Given the description of an element on the screen output the (x, y) to click on. 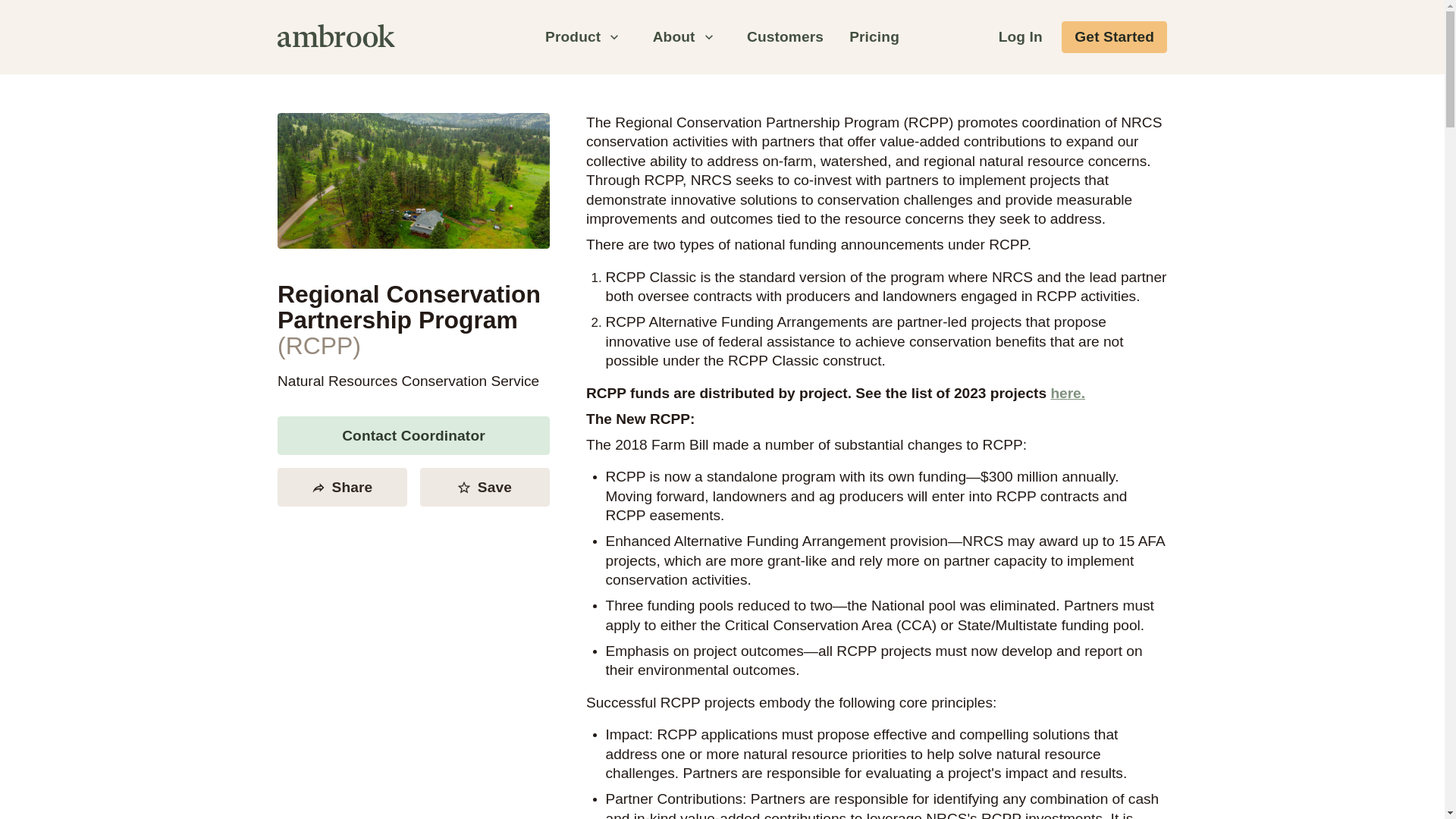
Get Started (1114, 37)
Customers (784, 37)
Log In (1020, 37)
Contact Coordinator (414, 435)
he (1058, 392)
re. (1075, 392)
Natural Resources Conservation Service (408, 381)
Pricing (873, 37)
Share (342, 486)
Save (485, 486)
